Given the description of an element on the screen output the (x, y) to click on. 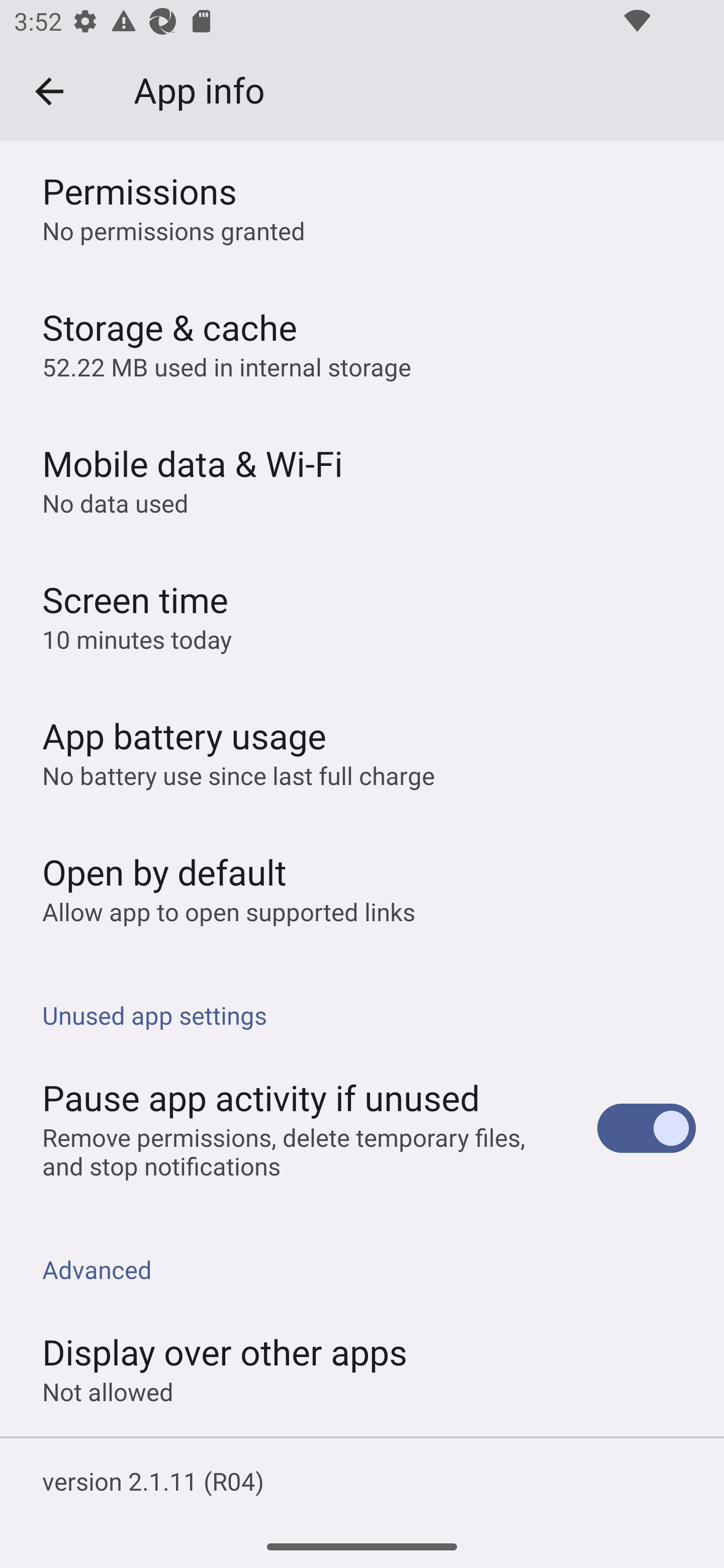
Navigate up (49, 91)
Permissions No permissions granted (362, 208)
Storage & cache 52.22 MB used in internal storage (362, 342)
Mobile data & Wi‑Fi No data used (362, 478)
Screen time 10 minutes today (362, 615)
Open by default Allow app to open supported links (362, 888)
Display over other apps Not allowed (362, 1367)
